Given the description of an element on the screen output the (x, y) to click on. 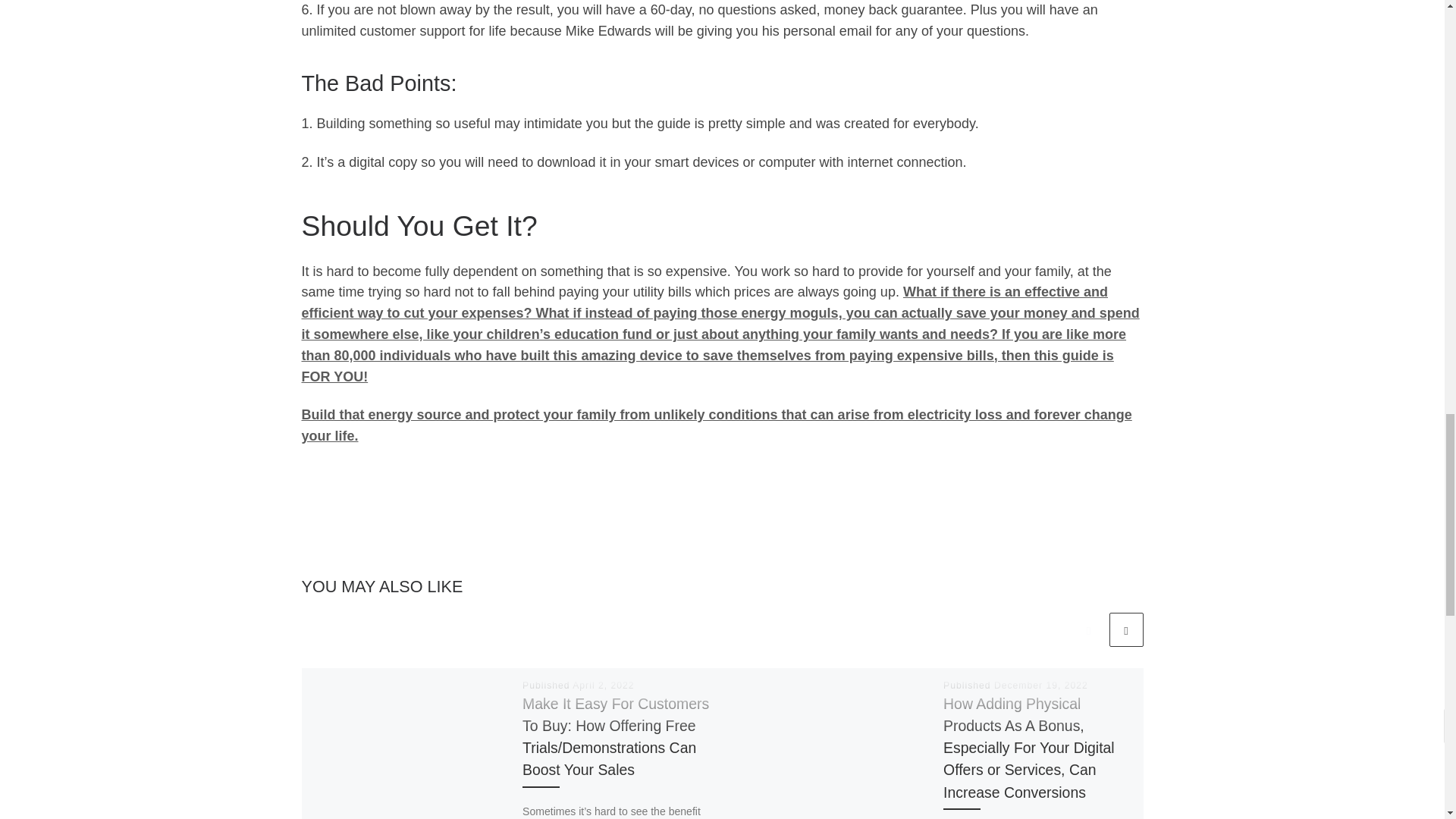
Previous related articles (1088, 629)
December 19, 2022 (1040, 685)
April 2, 2022 (602, 685)
Next related articles (1125, 629)
